Given the description of an element on the screen output the (x, y) to click on. 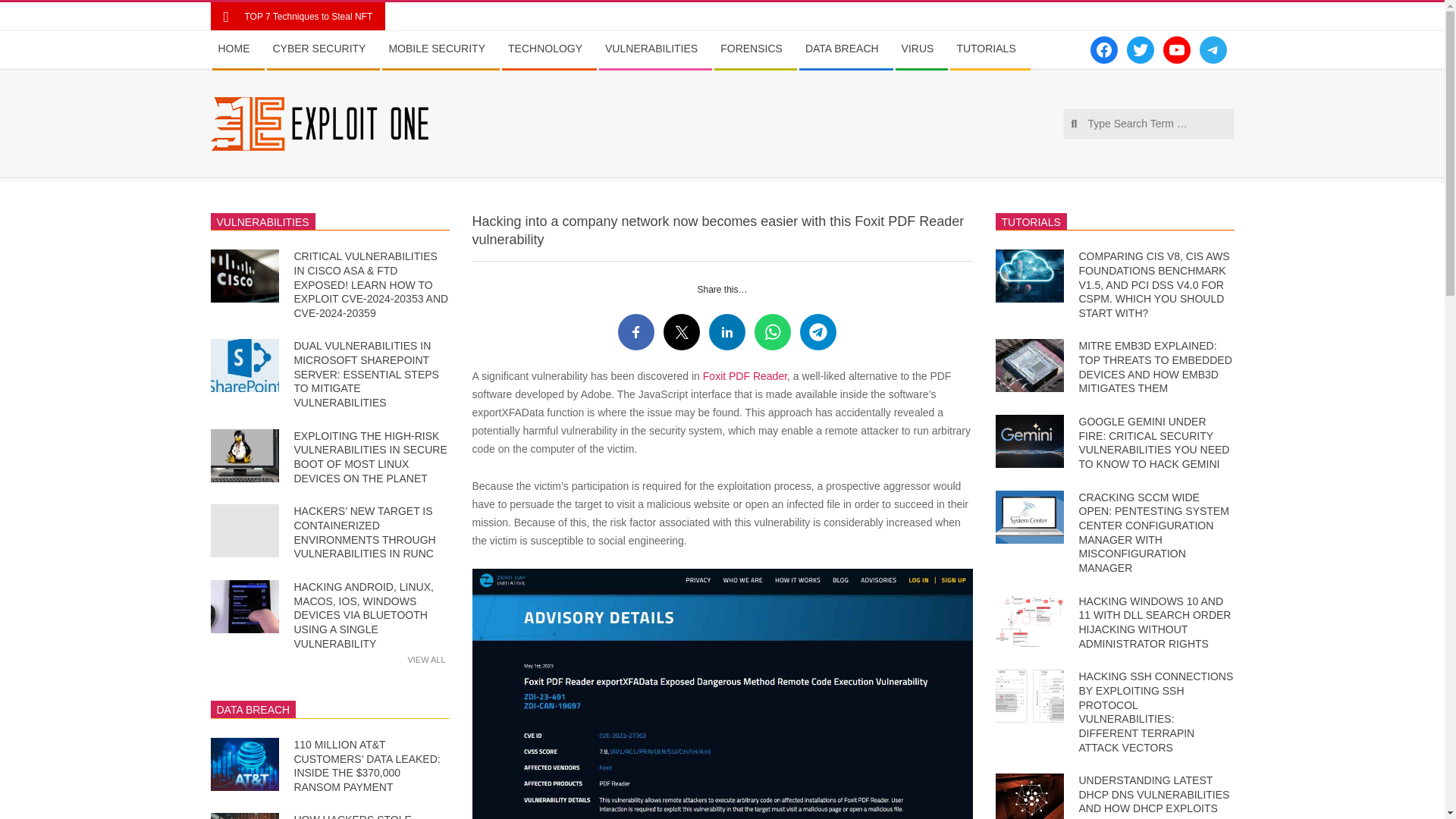
TECHNOLOGY (548, 49)
TUTORIALS (989, 49)
Telegram (1213, 49)
MOBILE SECURITY (440, 49)
DATA BREACH (845, 49)
VULNERABILITIES (654, 49)
CYBER SECURITY (322, 49)
FORENSICS (755, 49)
Twitter (1140, 49)
YouTube (1177, 49)
VIRUS (921, 49)
Facebook (1104, 49)
Foxit PDF Reader (745, 376)
HOME (237, 49)
